Given the description of an element on the screen output the (x, y) to click on. 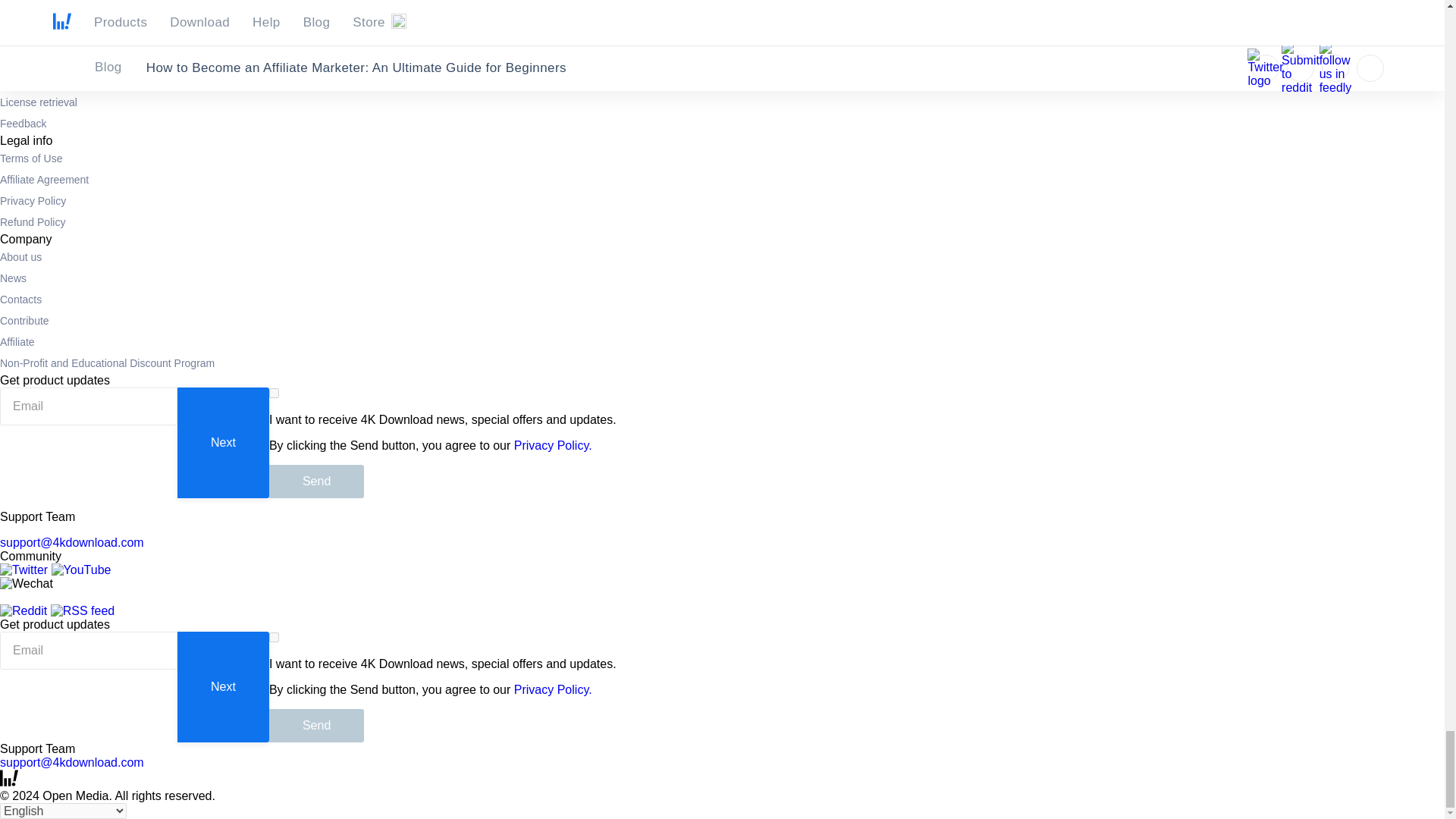
on (274, 637)
on (274, 393)
Home page (8, 781)
